Given the description of an element on the screen output the (x, y) to click on. 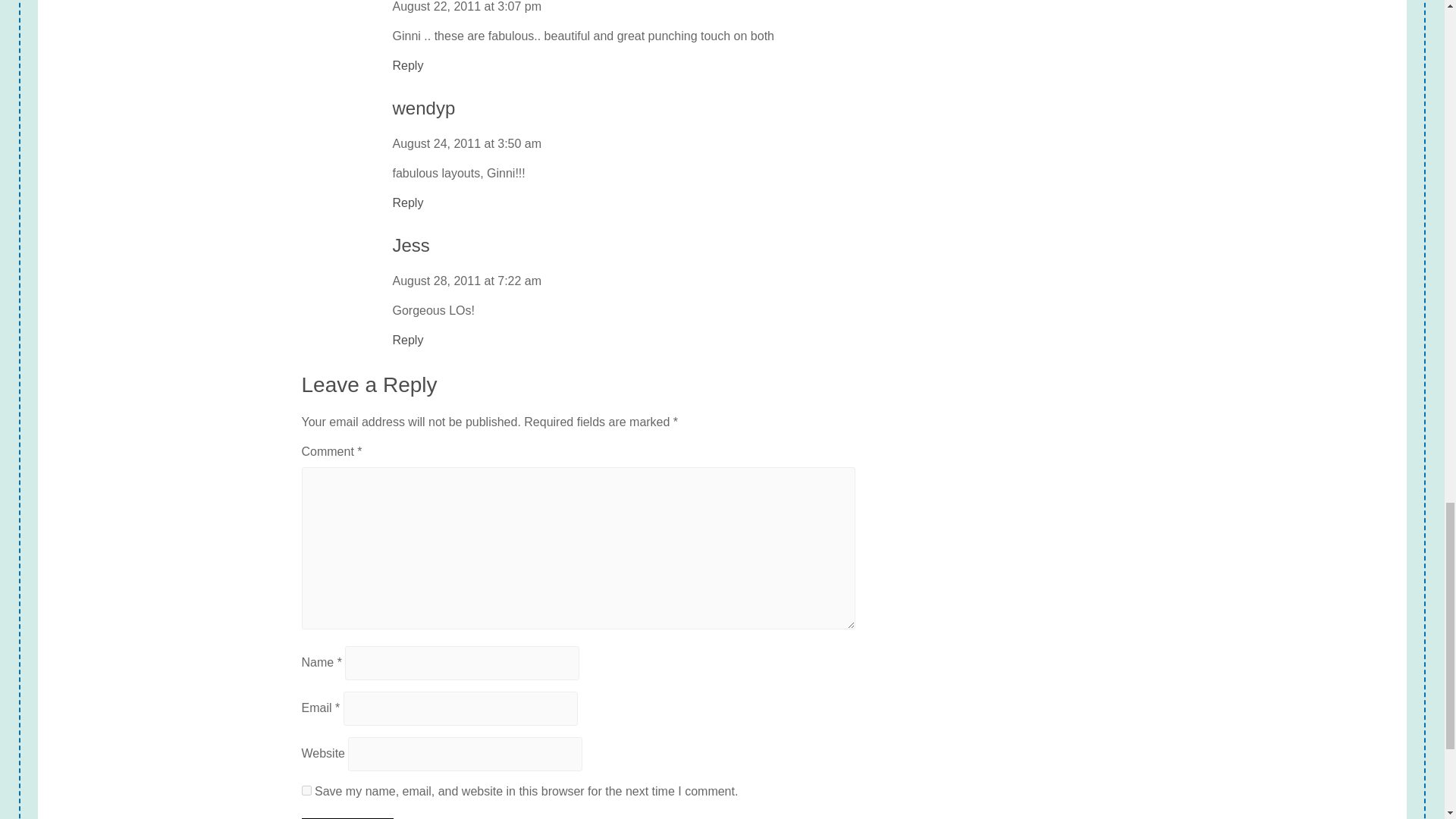
Jess (411, 246)
wendyp (424, 108)
Reply (408, 203)
Reply (408, 340)
yes (306, 790)
Reply (408, 65)
